Given the description of an element on the screen output the (x, y) to click on. 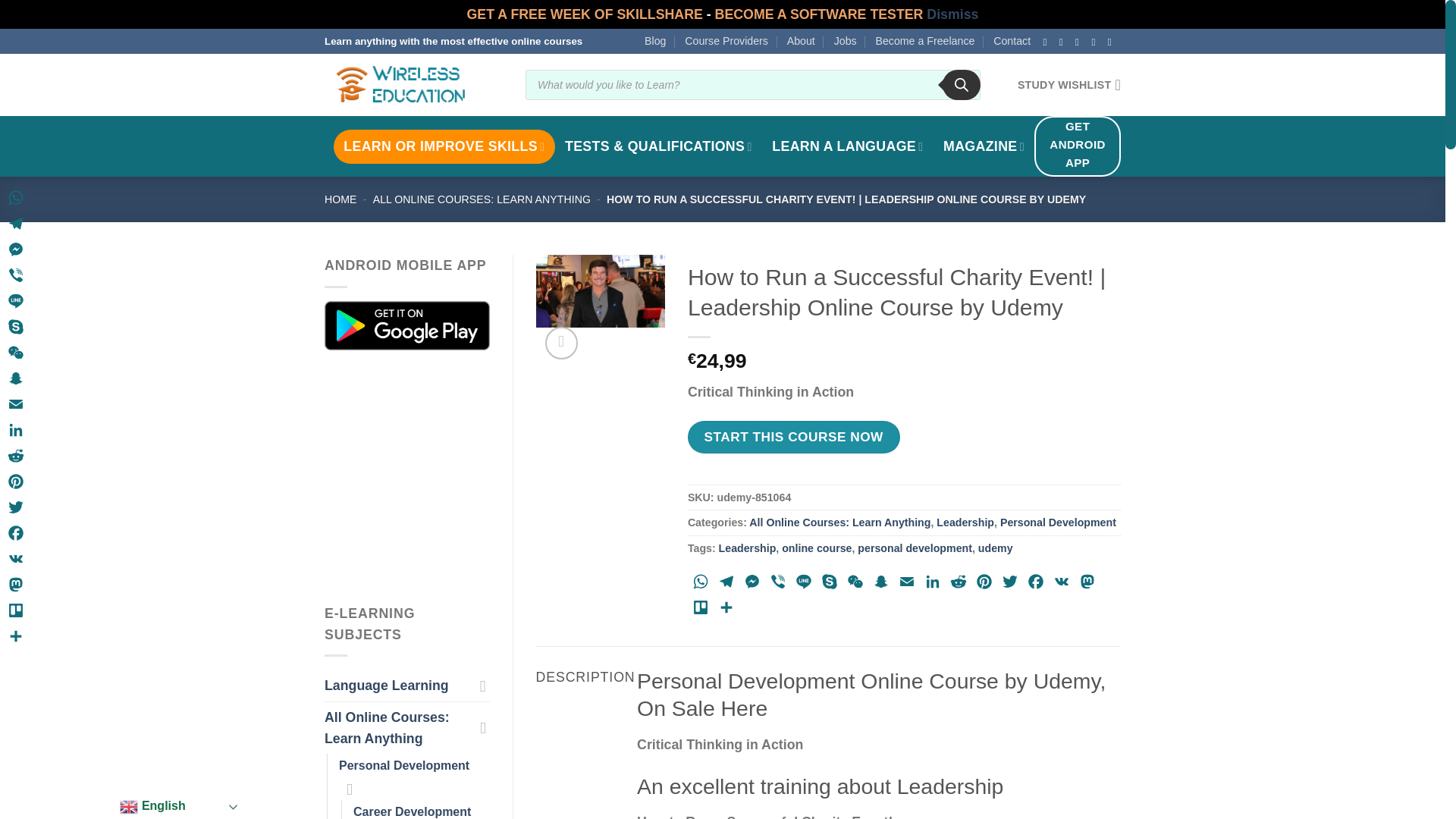
Course Providers (726, 41)
MOOC (443, 145)
Download our Mobile App Now (406, 324)
Jobs (845, 41)
Advertisement (453, 476)
BECOME A SOFTWARE TESTER (818, 14)
About (801, 41)
WhatsApp (700, 584)
Skype (829, 584)
LEARN OR IMPROVE SKILLS (443, 145)
Telegram (726, 584)
Line (803, 584)
TECH SALARY, NO CODING: BECOME A SOFTWARE TESTER (818, 14)
Contact (1011, 41)
